Given the description of an element on the screen output the (x, y) to click on. 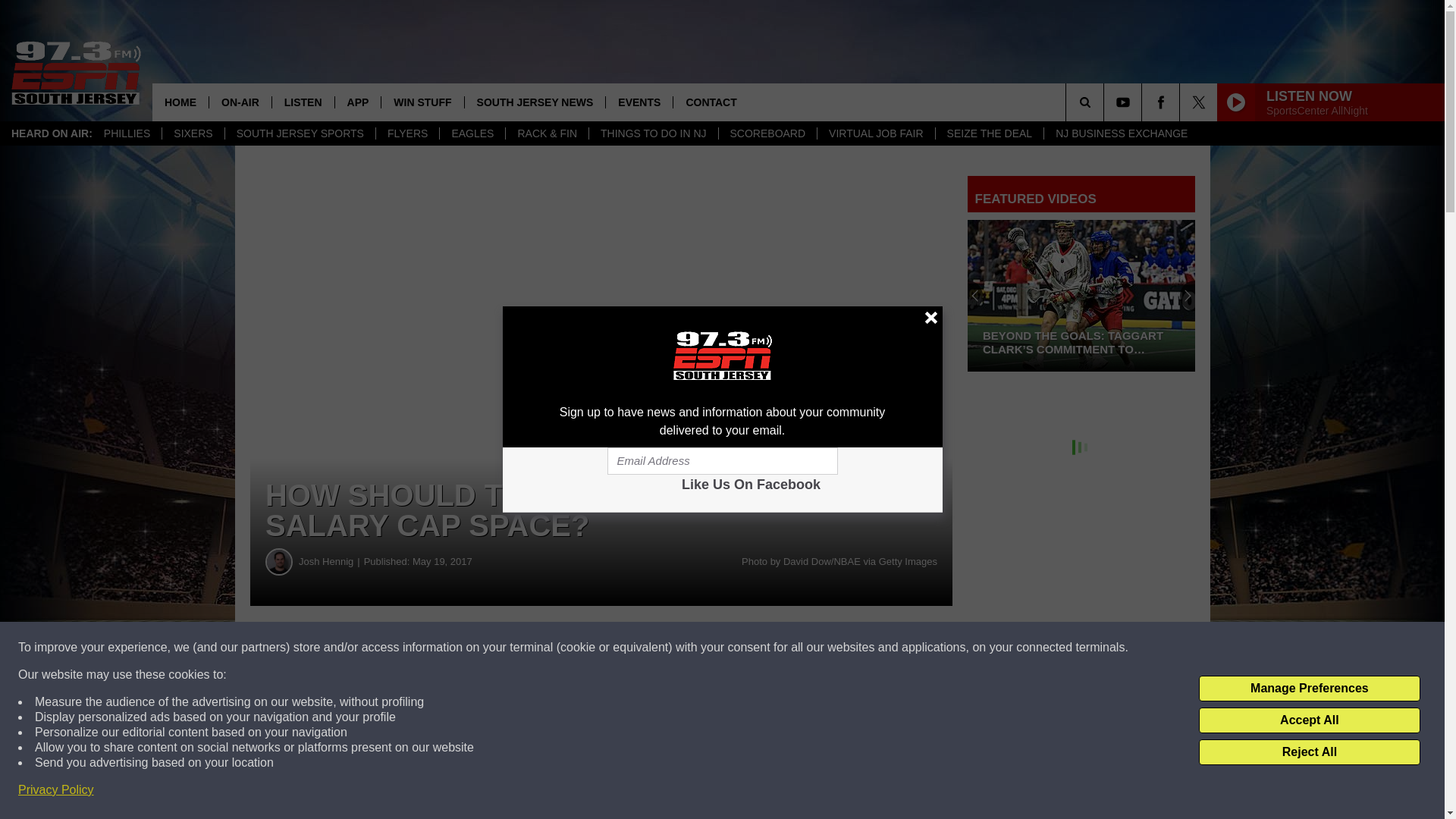
Share on Twitter (741, 647)
ON-AIR (239, 102)
APP (357, 102)
Accept All (1309, 720)
Share on Facebook (460, 647)
SOUTH JERSEY SPORTS (299, 133)
EAGLES (472, 133)
VIRTUAL JOB FAIR (875, 133)
LISTEN (302, 102)
Manage Preferences (1309, 688)
SEIZE THE DEAL (988, 133)
FLYERS (407, 133)
PHILLIES (127, 133)
HOME (180, 102)
NJ BUSINESS EXCHANGE (1120, 133)
